Given the description of an element on the screen output the (x, y) to click on. 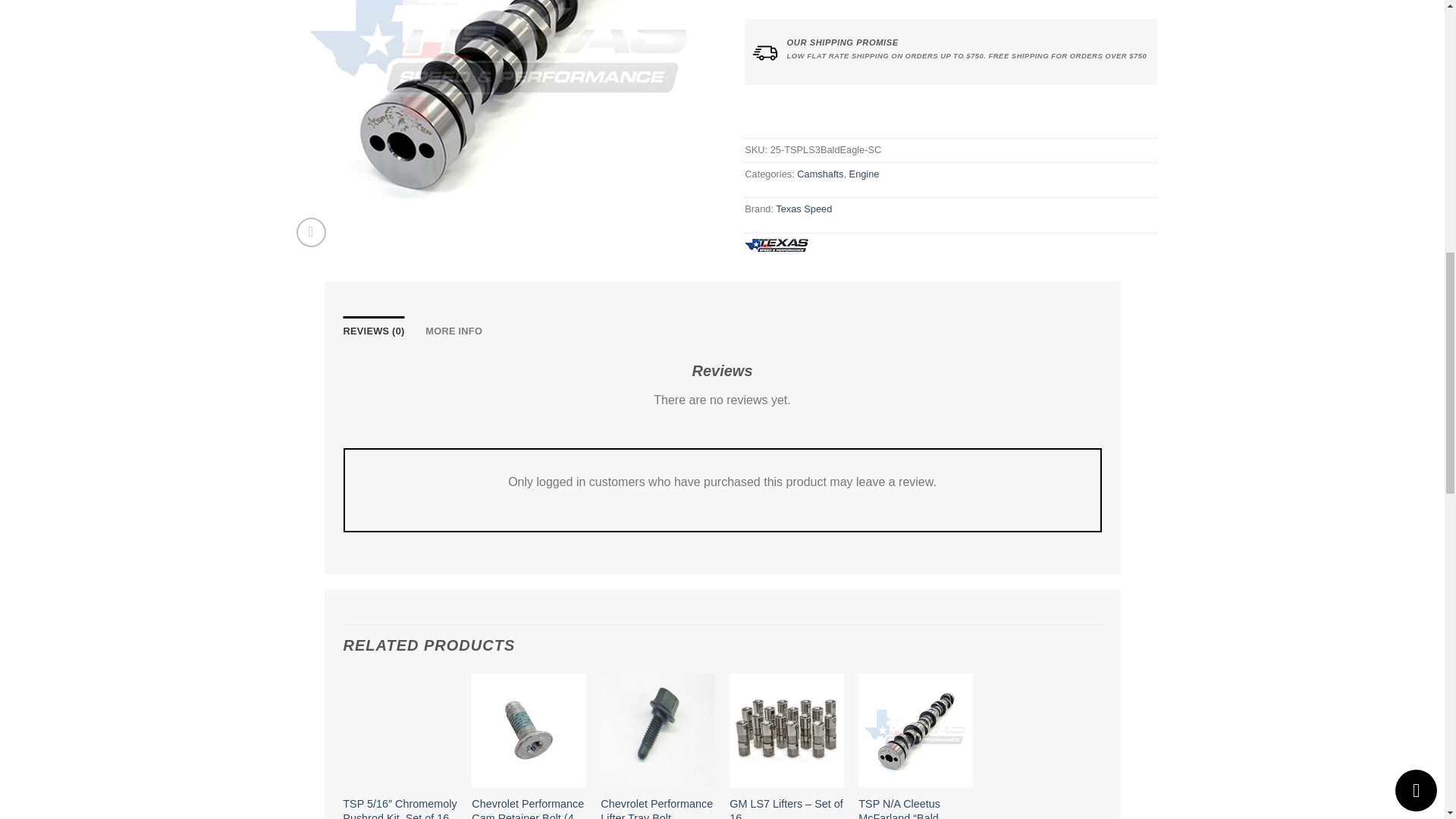
Engine (863, 173)
Texas Speed (803, 208)
Camshafts (819, 173)
MORE INFO (453, 330)
